Given the description of an element on the screen output the (x, y) to click on. 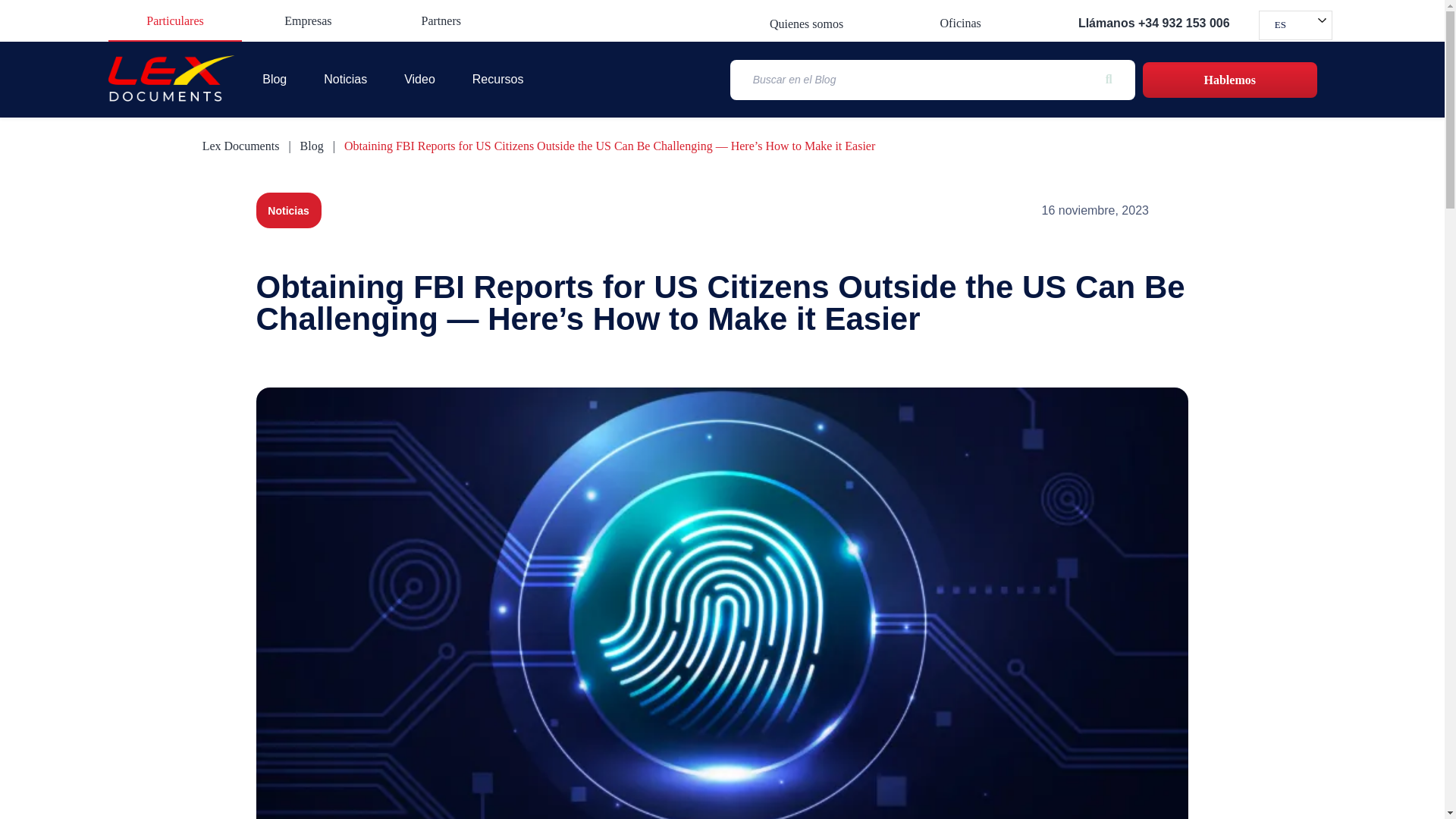
Quienes somos (806, 23)
Blog (311, 145)
Oficinas (960, 22)
Noticias (287, 210)
Noticias (287, 210)
Particulares (175, 20)
Hablemos (1229, 80)
Video (419, 79)
Recursos (498, 79)
Partners (441, 20)
